Given the description of an element on the screen output the (x, y) to click on. 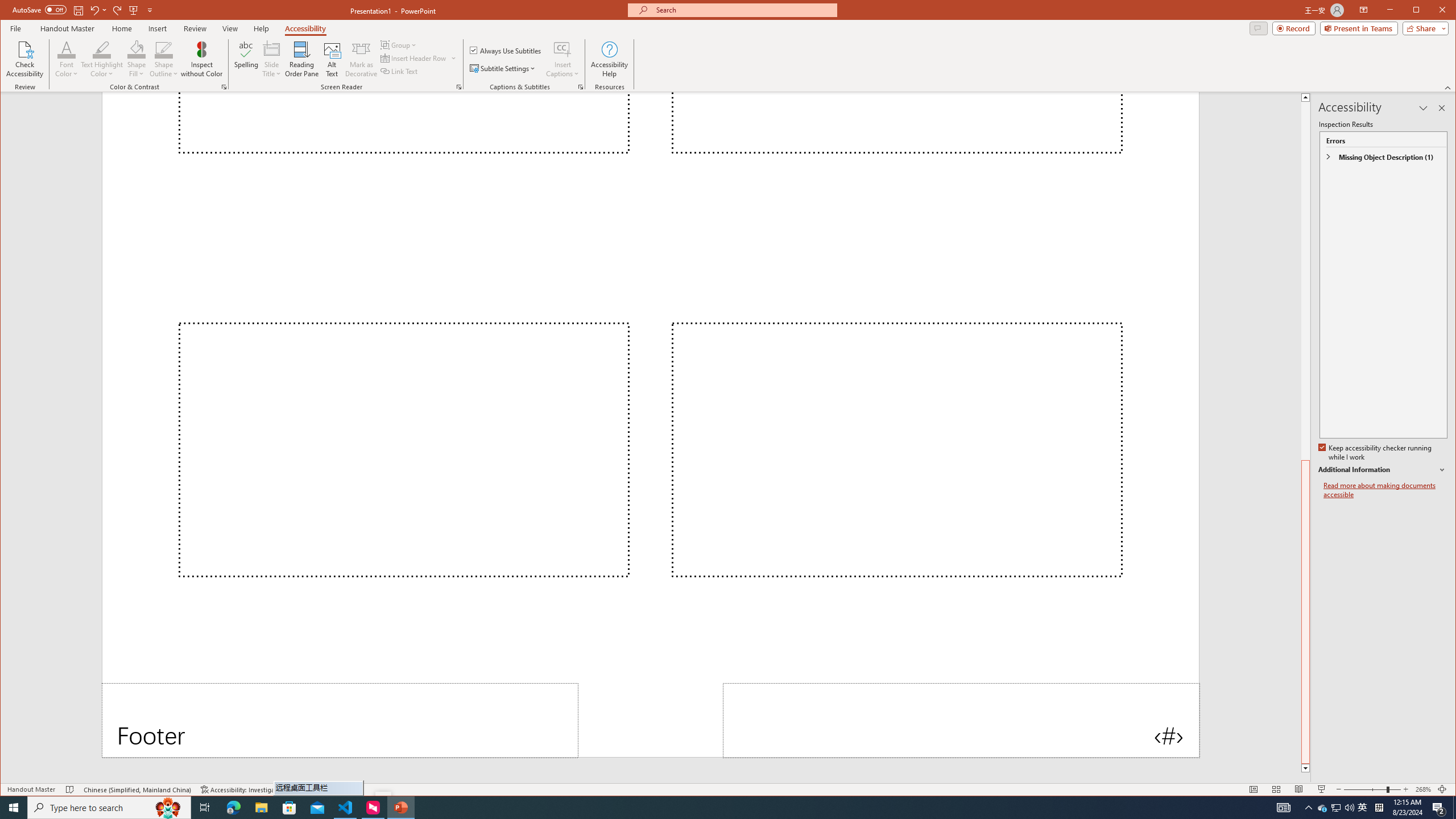
Page down (1305, 584)
Running applications (700, 807)
Ribbon Display Options (1364, 9)
System (10, 10)
Accessibility Help (608, 59)
Microsoft Edge (233, 807)
From Beginning (133, 9)
Slide Title (271, 59)
System (10, 10)
Zoom to Fit  (1441, 789)
Inspect without Color (201, 59)
Start (13, 807)
Text Highlight Color (102, 48)
Slide Show (1321, 789)
